Given the description of an element on the screen output the (x, y) to click on. 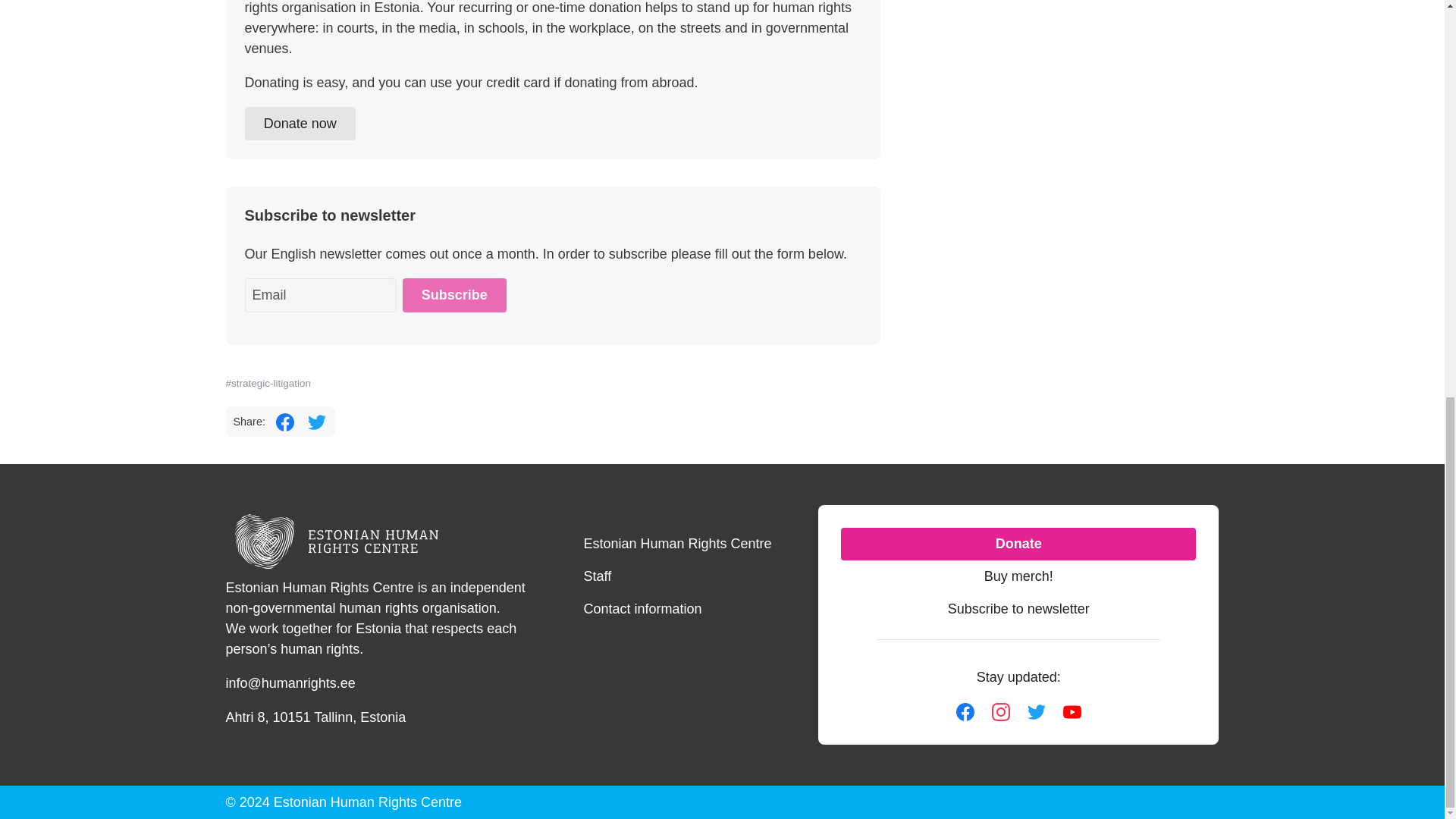
Email (320, 295)
Subscribe (453, 295)
Donate (1018, 543)
Donate now (299, 123)
Subscribe to newsletter (1018, 608)
Buy merch! (1018, 576)
Subscribe (453, 295)
